Given the description of an element on the screen output the (x, y) to click on. 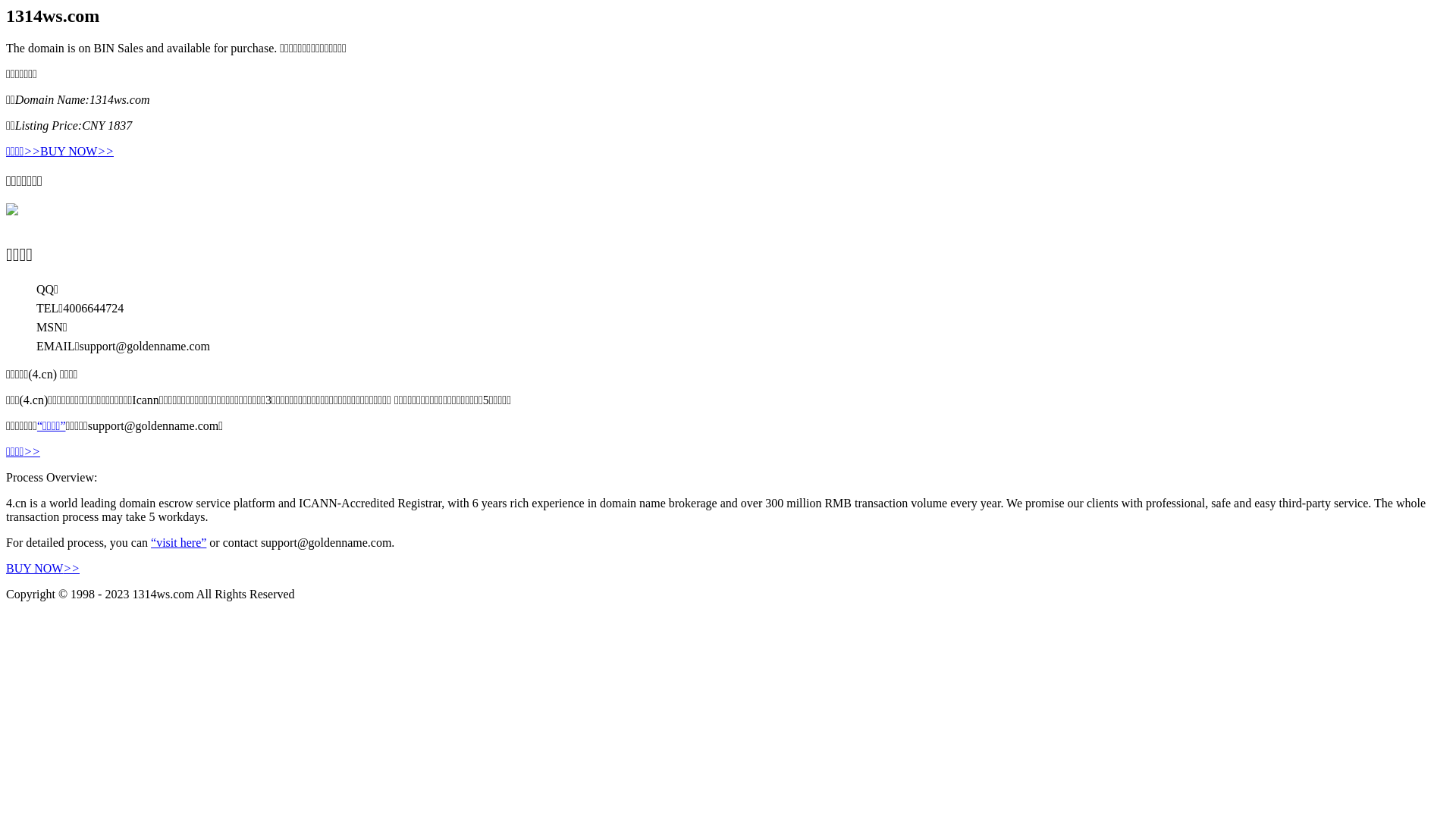
BUY NOW>> Element type: text (76, 151)
BUY NOW>> Element type: text (42, 567)
